Given the description of an element on the screen output the (x, y) to click on. 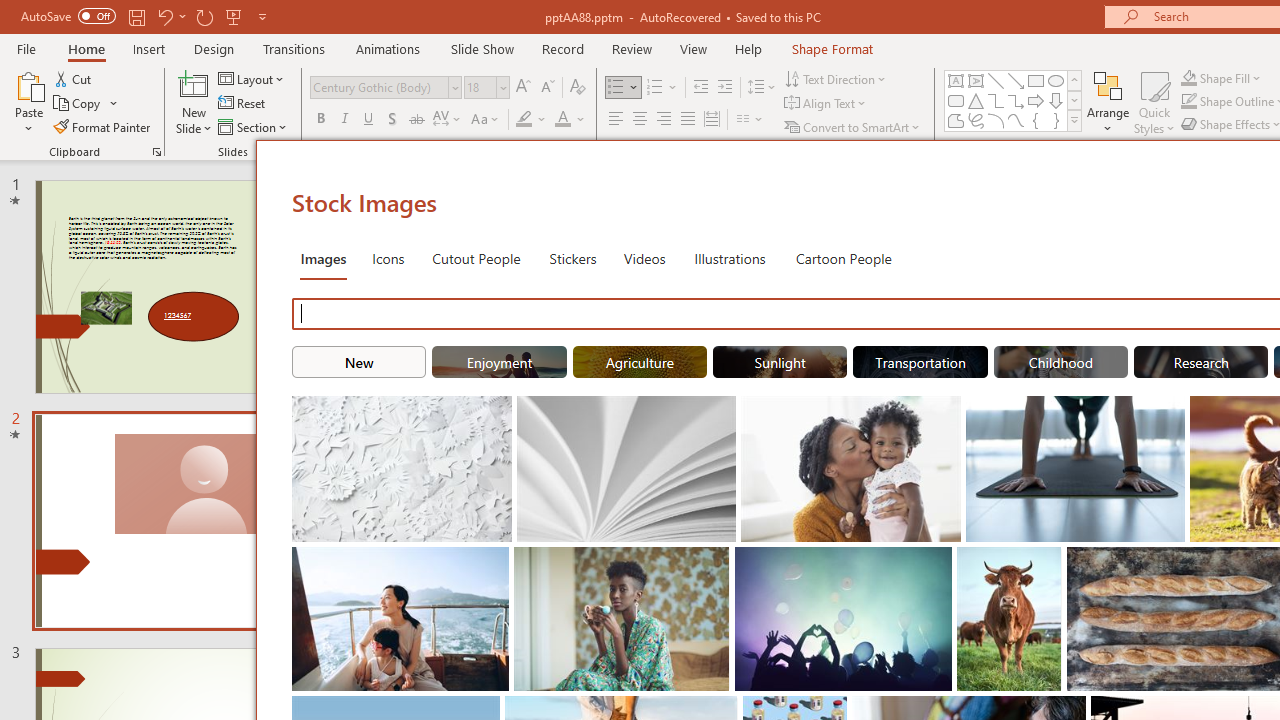
"Sunlight" Stock Images. (779, 362)
Icons (388, 258)
